Given the description of an element on the screen output the (x, y) to click on. 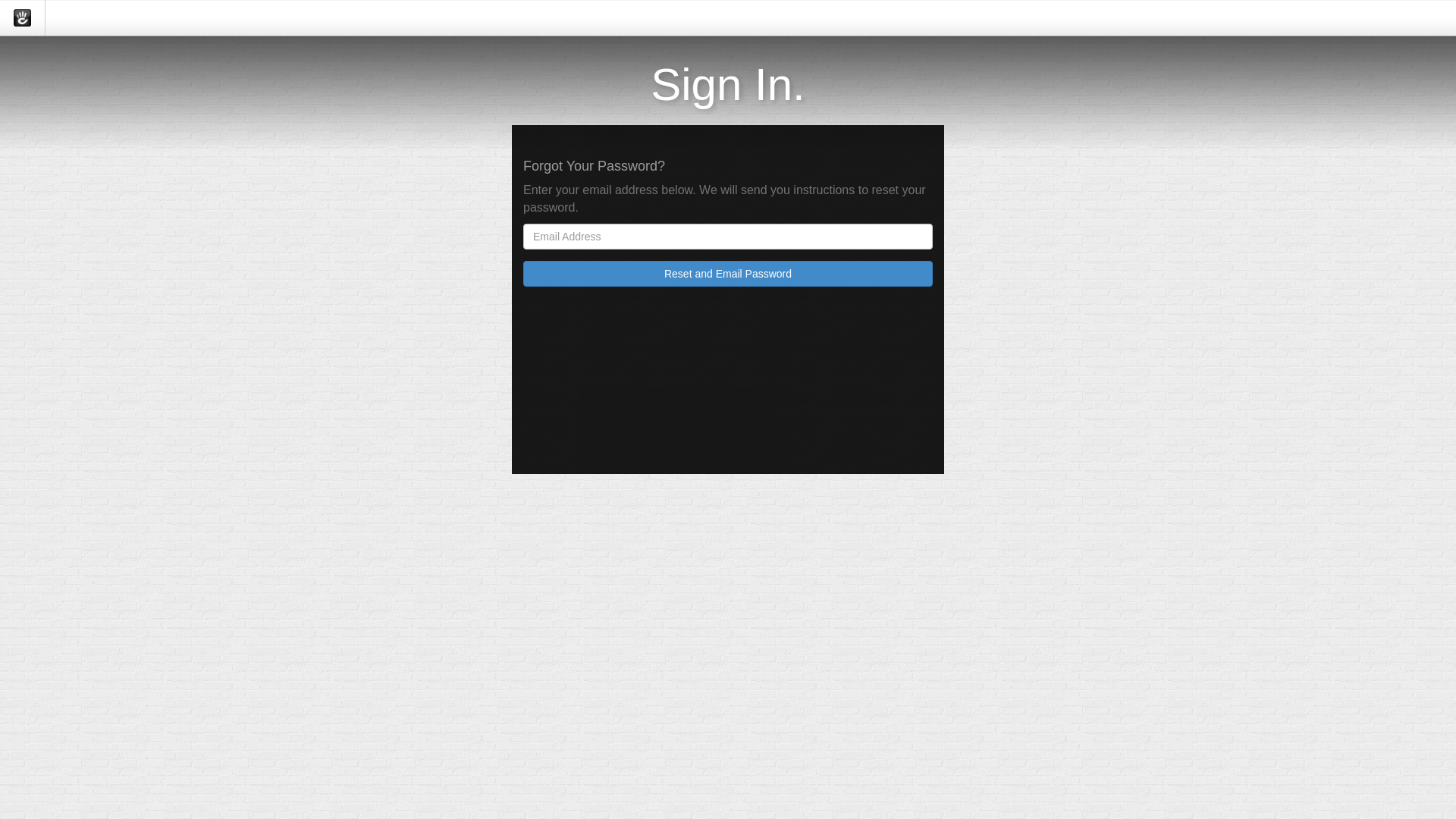
Reset and Email Password Element type: text (727, 273)
concrete5 Element type: hover (22, 17)
